Given the description of an element on the screen output the (x, y) to click on. 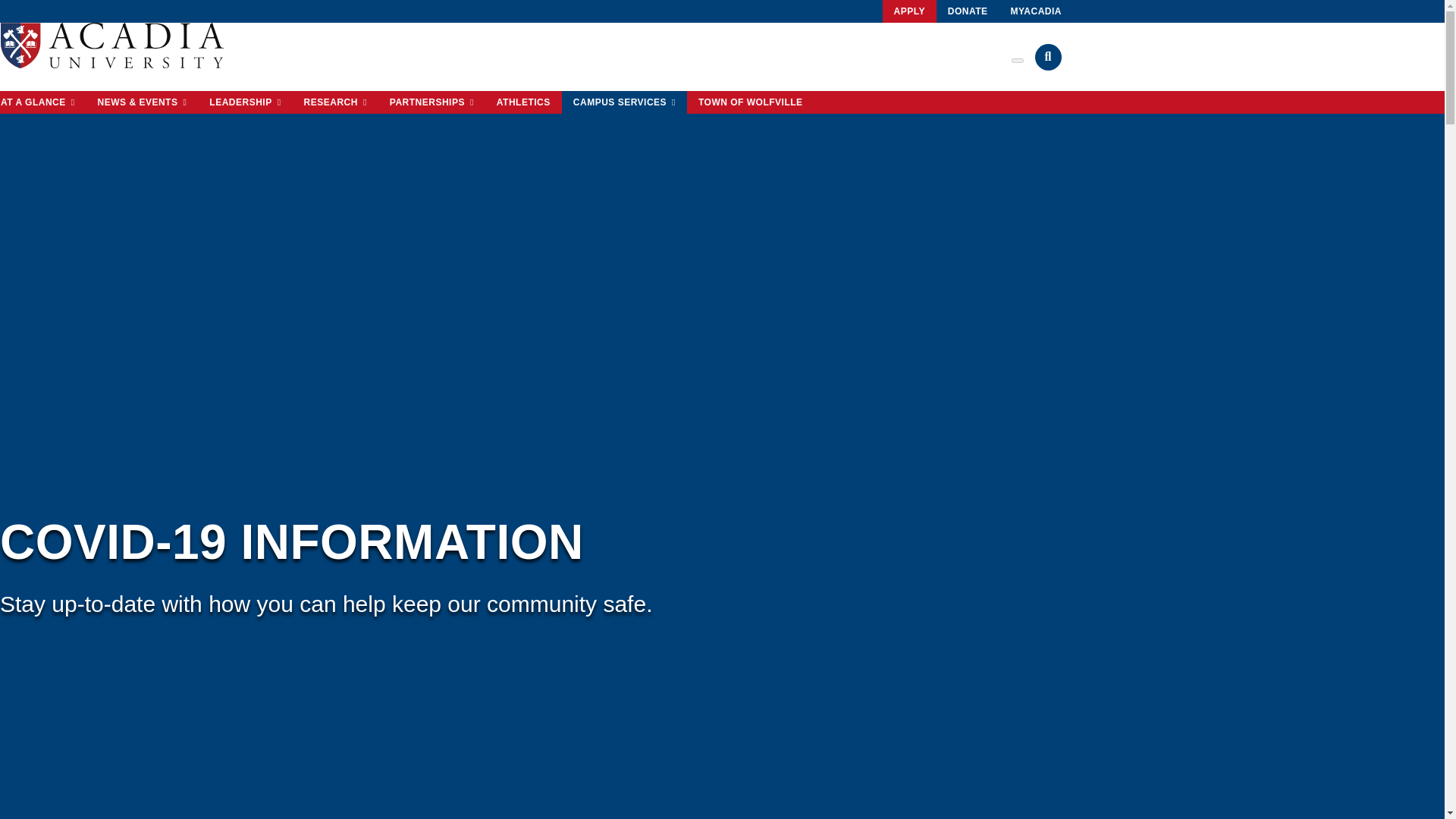
LEADERSHIP (245, 101)
DONATE (967, 11)
MYACADIA (1035, 11)
STUDENT SERVICES (655, 124)
ADMISSIONS (443, 124)
Acadia University At a Glance (42, 101)
Student Services (655, 124)
ABOUT (1000, 124)
AT A GLANCE (42, 101)
INTERNATIONAL (786, 124)
Research (141, 101)
Academics (537, 124)
ACADEMICS (537, 124)
APPLY (909, 11)
Admissions (443, 124)
